Given the description of an element on the screen output the (x, y) to click on. 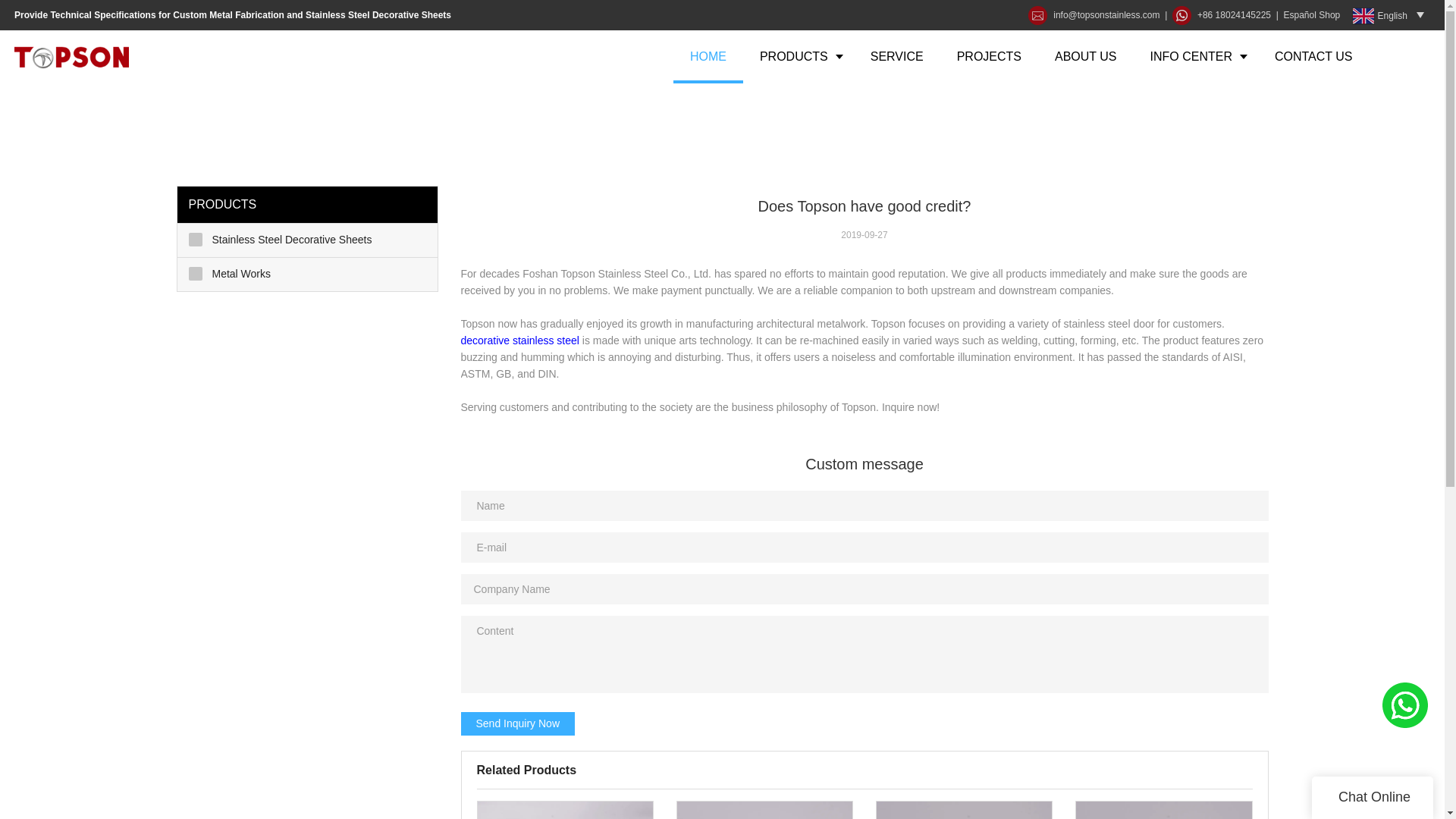
SERVICE (896, 56)
PRODUCTS (797, 56)
Stainless Steel Decorative Sheets (307, 240)
PROJECTS (989, 56)
HOME (707, 56)
CONTACT US (1313, 56)
INFO CENTER (1195, 56)
ABOUT US (1086, 56)
